Given the description of an element on the screen output the (x, y) to click on. 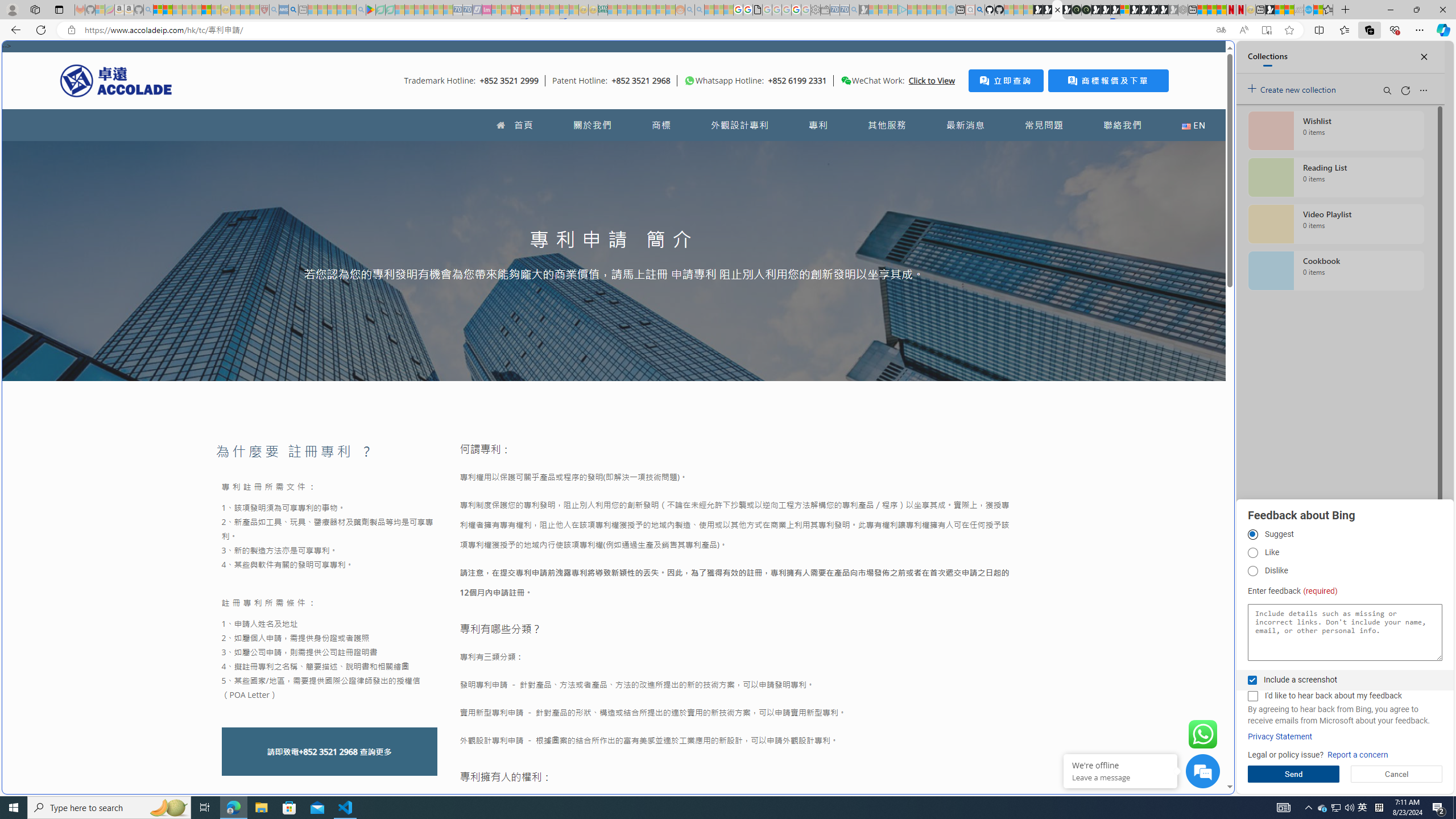
Close split screen (1208, 57)
Microsoft Start - Sleeping (930, 9)
Local - MSN - Sleeping (254, 9)
